Given the description of an element on the screen output the (x, y) to click on. 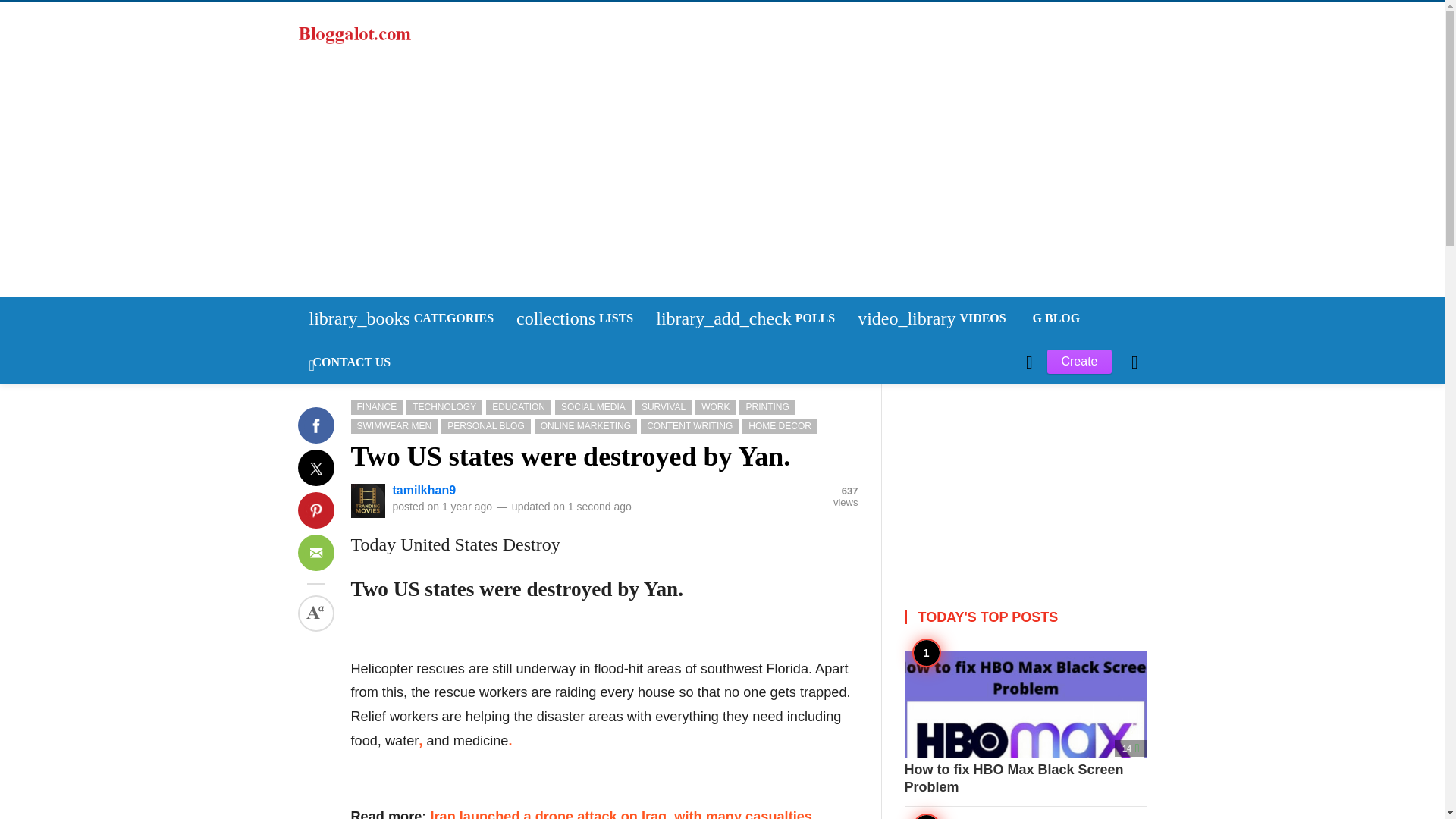
CONTACT US (349, 362)
How to fix HBO Max Black Screen Problem (1025, 723)
Log in (329, 462)
FINANCE (376, 406)
Advertisement (1025, 479)
SOCIAL MEDIA (592, 406)
SURVIVAL (662, 406)
TECHNOLOGY (575, 318)
